Given the description of an element on the screen output the (x, y) to click on. 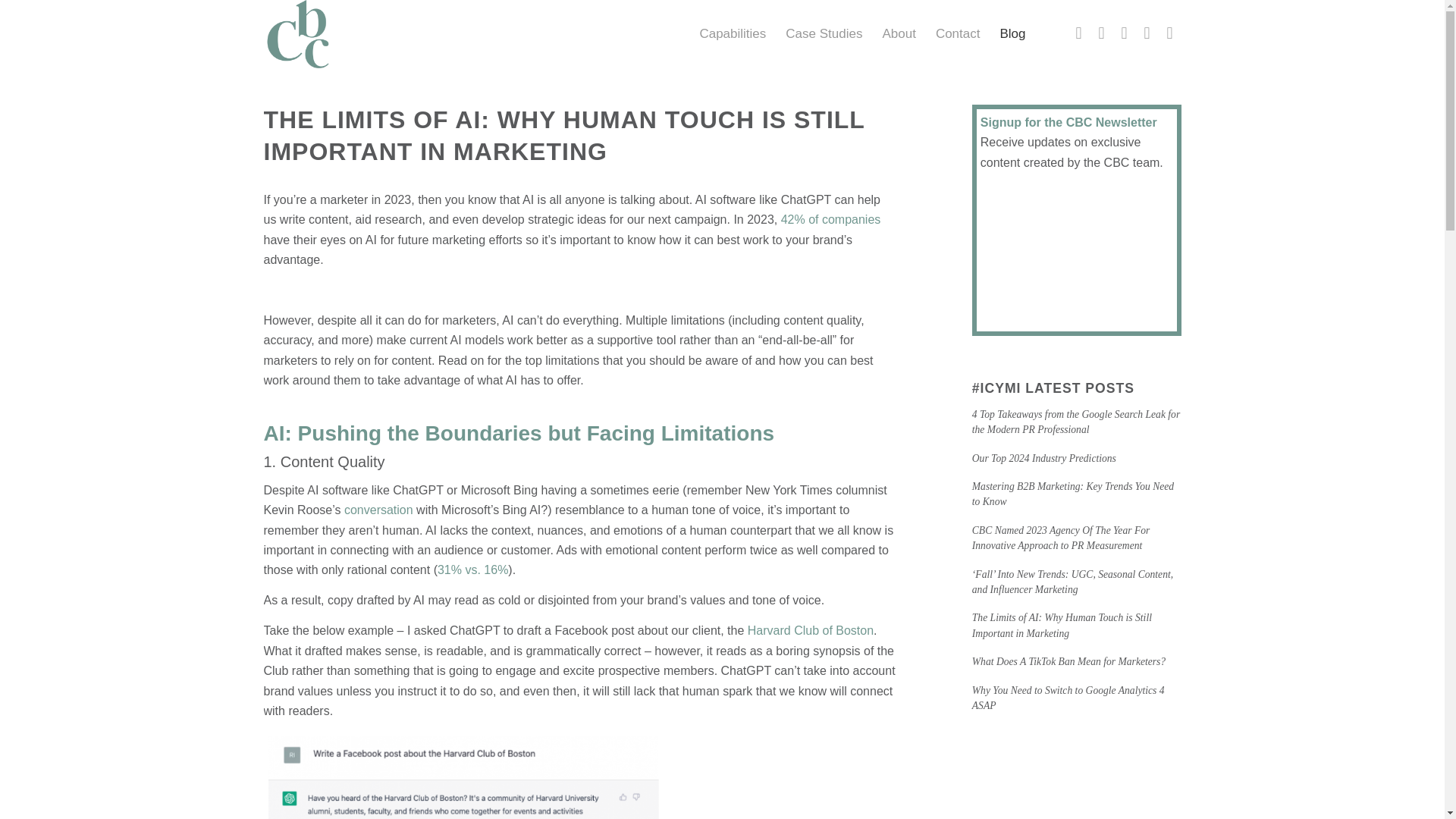
Our Top 2024 Industry Predictions (1044, 458)
Facebook (1101, 33)
conversation (378, 509)
Youtube (1169, 33)
Mastering B2B Marketing: Key Trends You Need to Know (1072, 493)
Contact (958, 33)
Instagram (1146, 33)
Case Studies (824, 33)
Capabilities (732, 33)
